Given the description of an element on the screen output the (x, y) to click on. 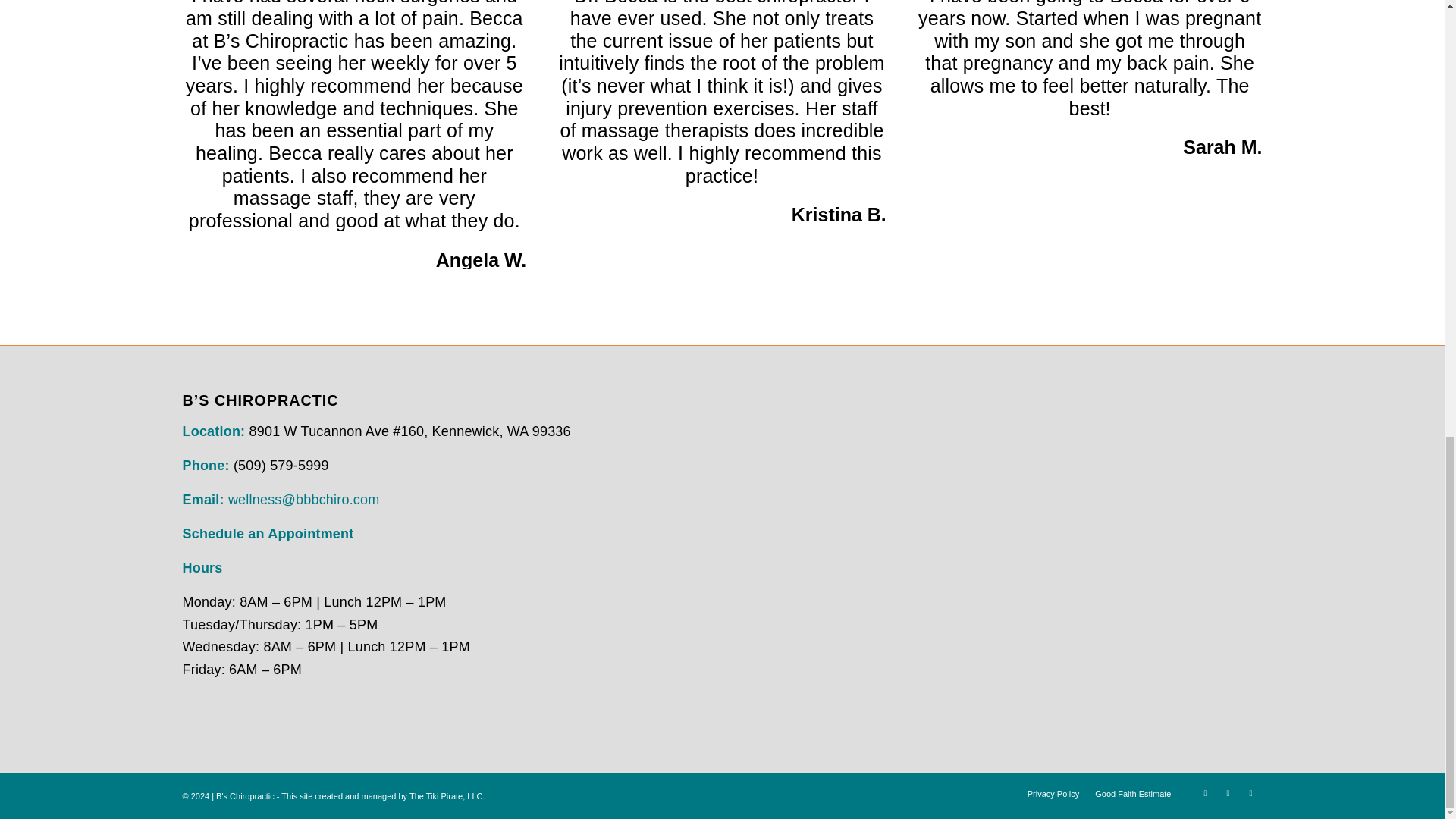
The Tiki Pirate, LLC (446, 795)
Schedule an Appointment (267, 533)
